Given the description of an element on the screen output the (x, y) to click on. 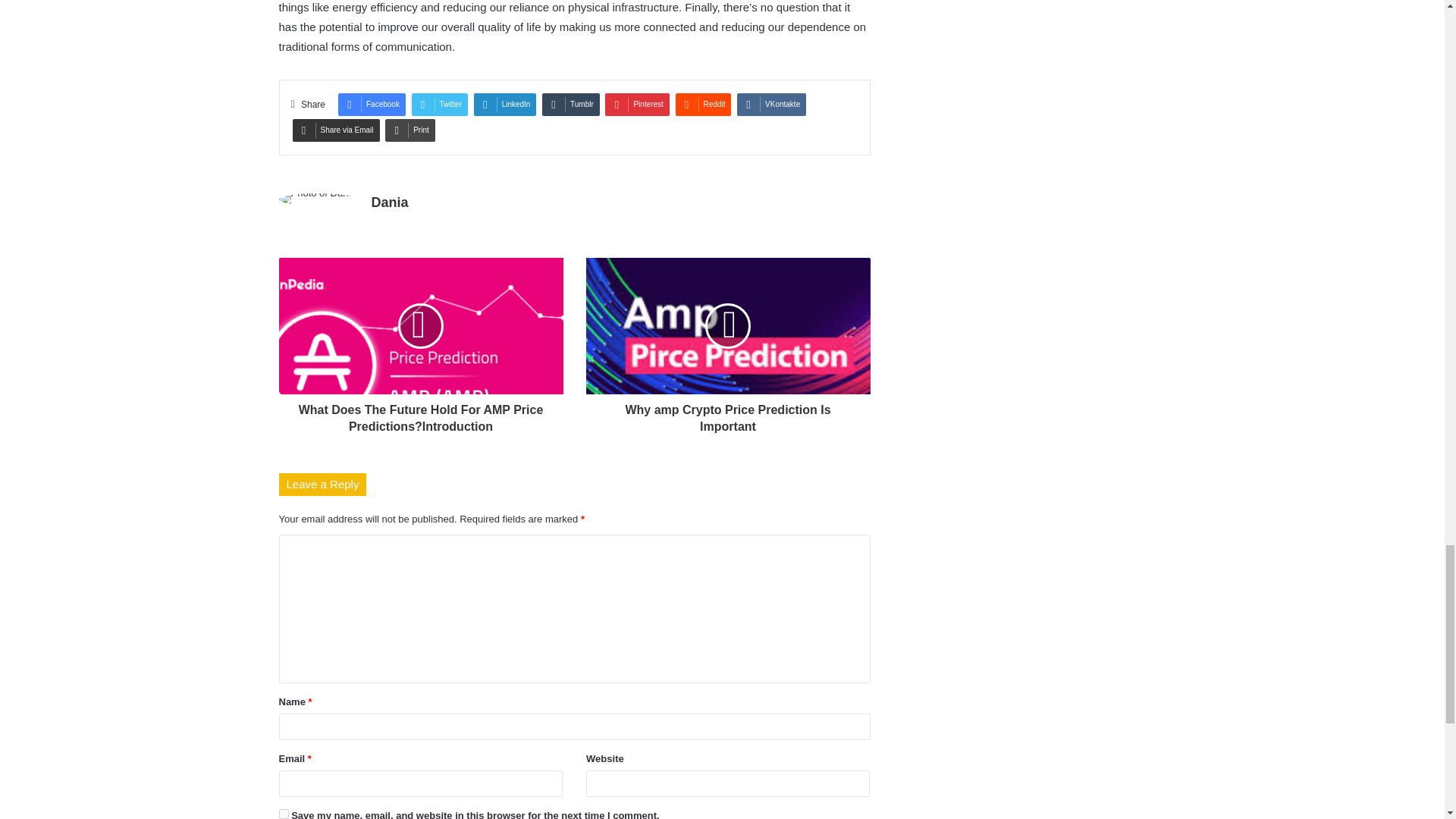
yes (283, 814)
